Given the description of an element on the screen output the (x, y) to click on. 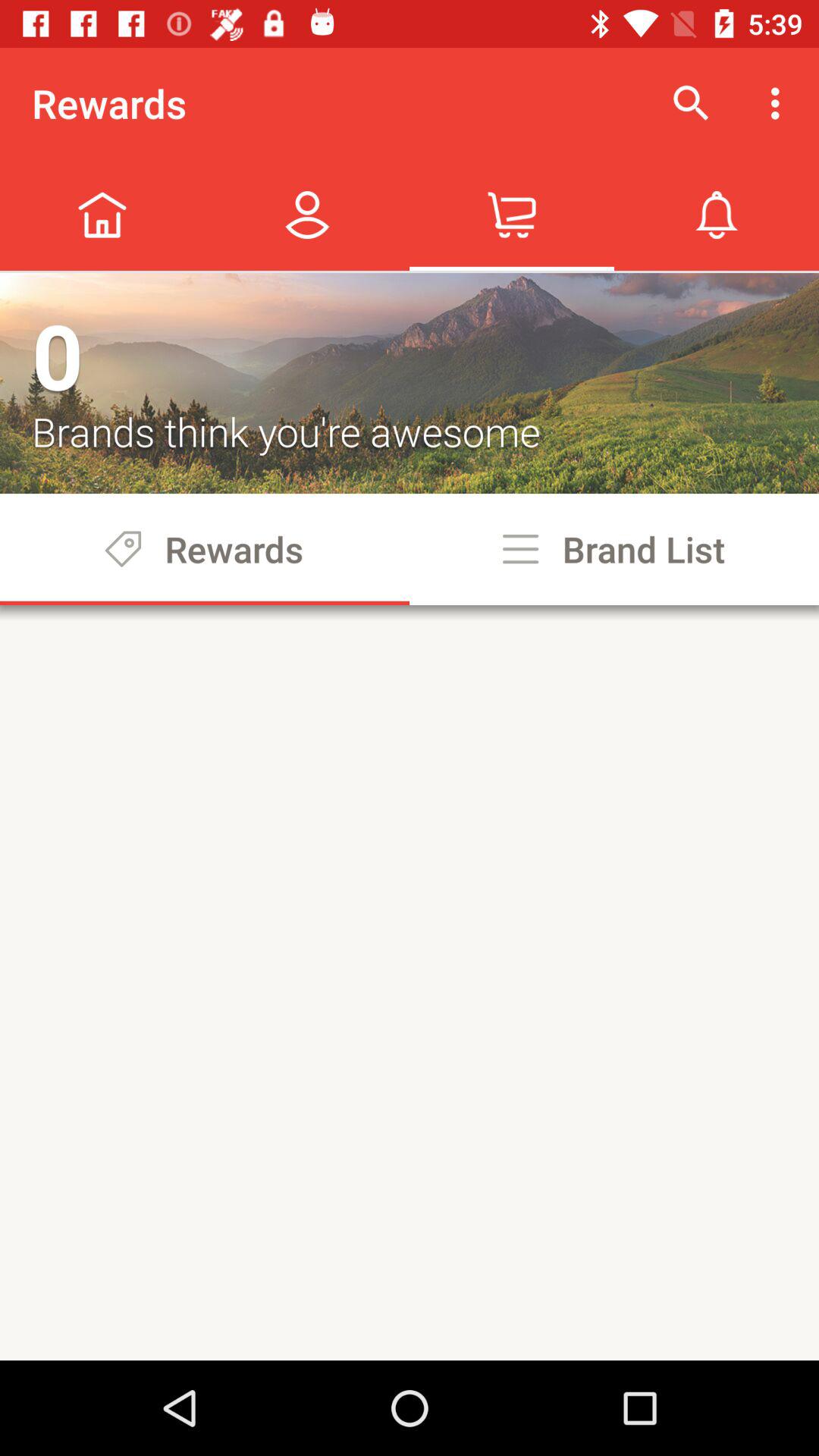
click on the options icon beside brand list (520, 549)
select the search icon (691, 103)
click on the cart (512, 214)
